Given the description of an element on the screen output the (x, y) to click on. 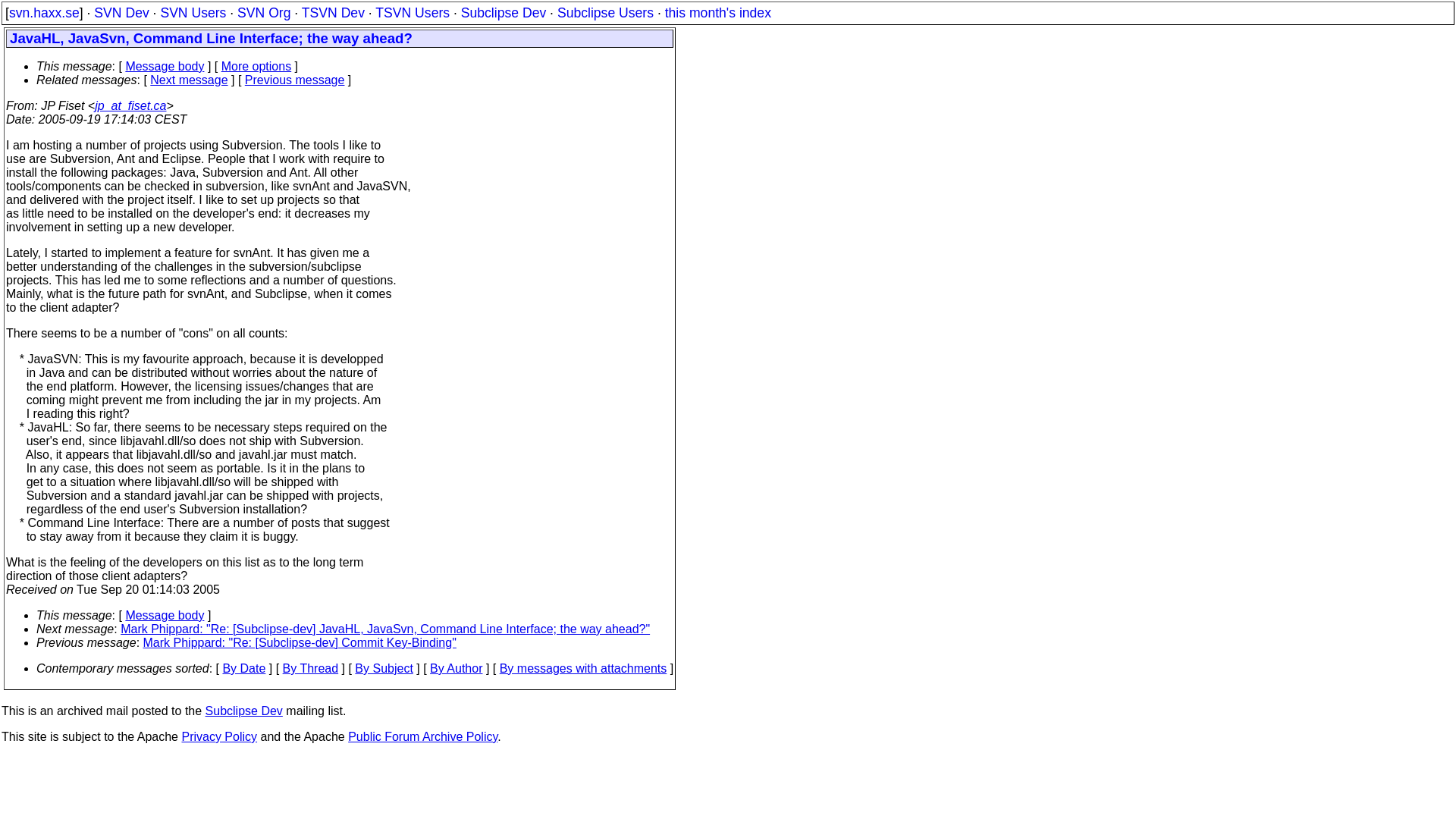
Next message in the list (384, 628)
this month's index (718, 12)
TSVN Users (412, 12)
By messages with attachments (582, 667)
By Subject (383, 667)
Subclipse Users (605, 12)
Contemporary messages by author (455, 667)
Next message (188, 79)
svn.haxx.se (44, 12)
Contemporary discussion threads (310, 667)
